Given the description of an element on the screen output the (x, y) to click on. 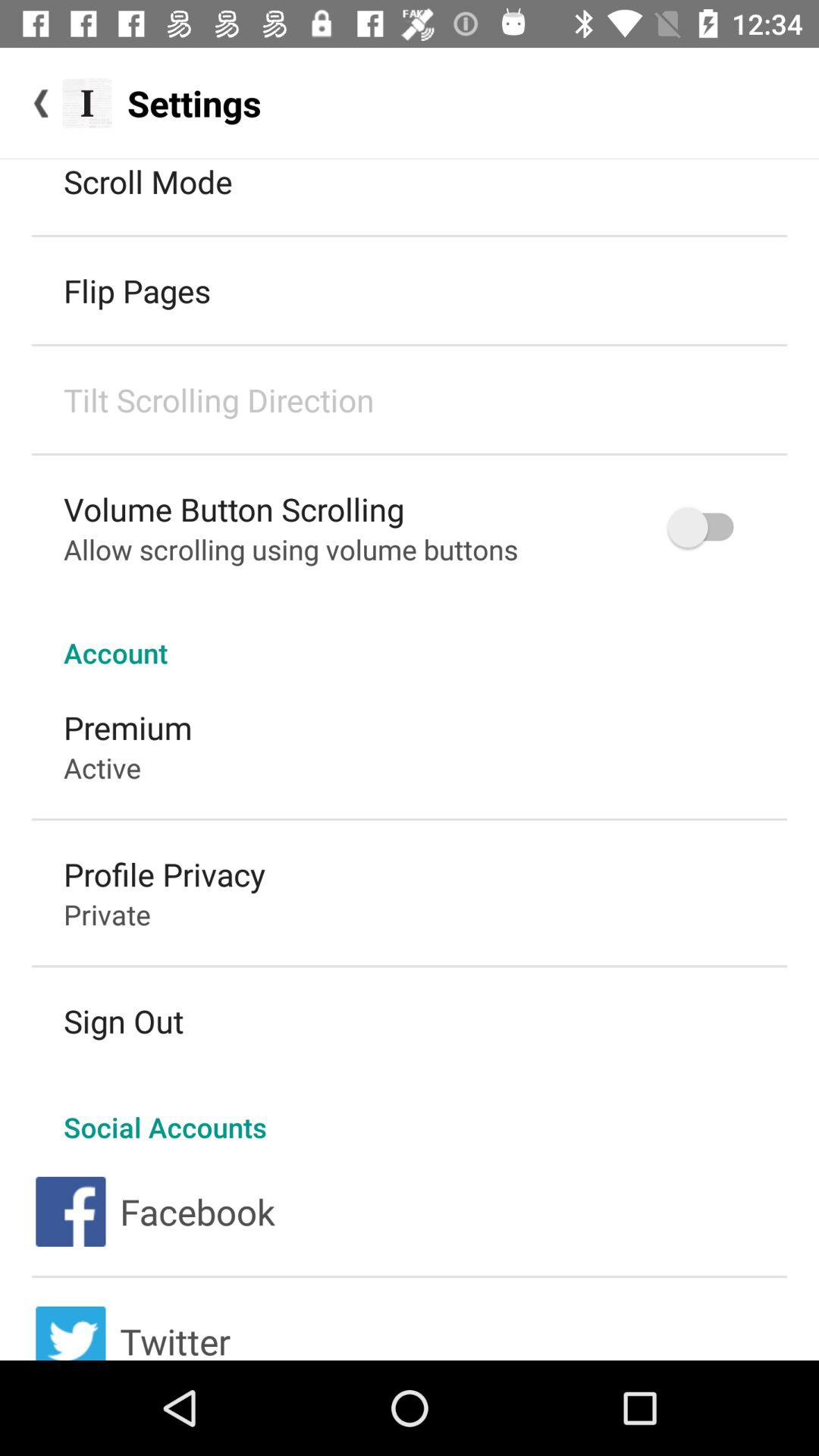
click the icon above profile privacy item (102, 767)
